Given the description of an element on the screen output the (x, y) to click on. 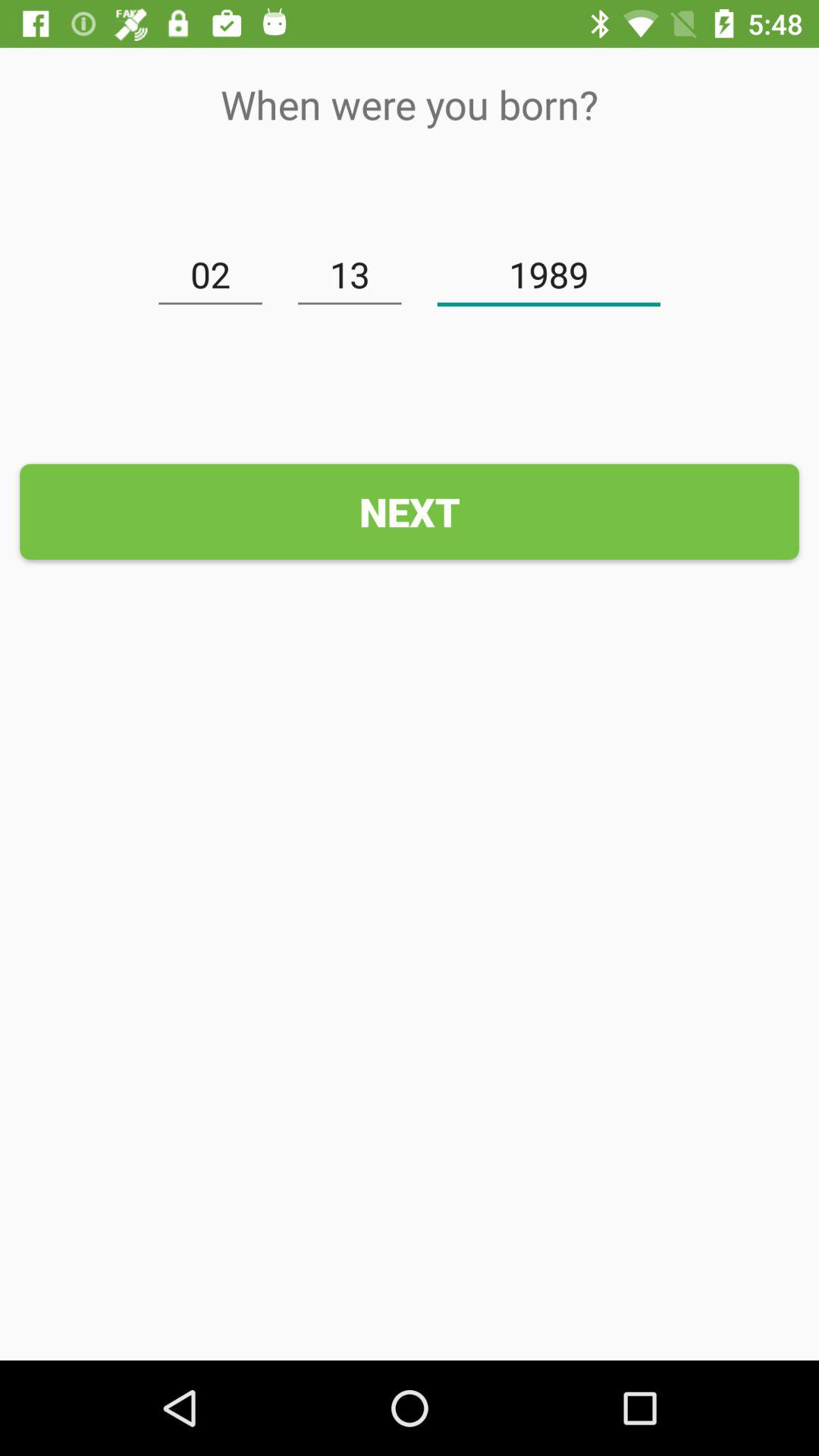
swipe until the next (409, 511)
